Given the description of an element on the screen output the (x, y) to click on. 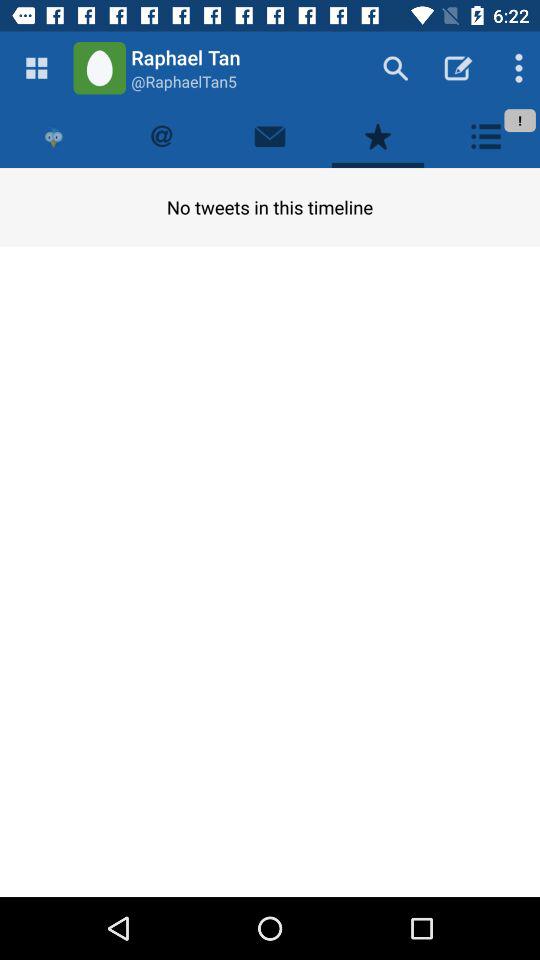
add to bookmark (378, 136)
